Given the description of an element on the screen output the (x, y) to click on. 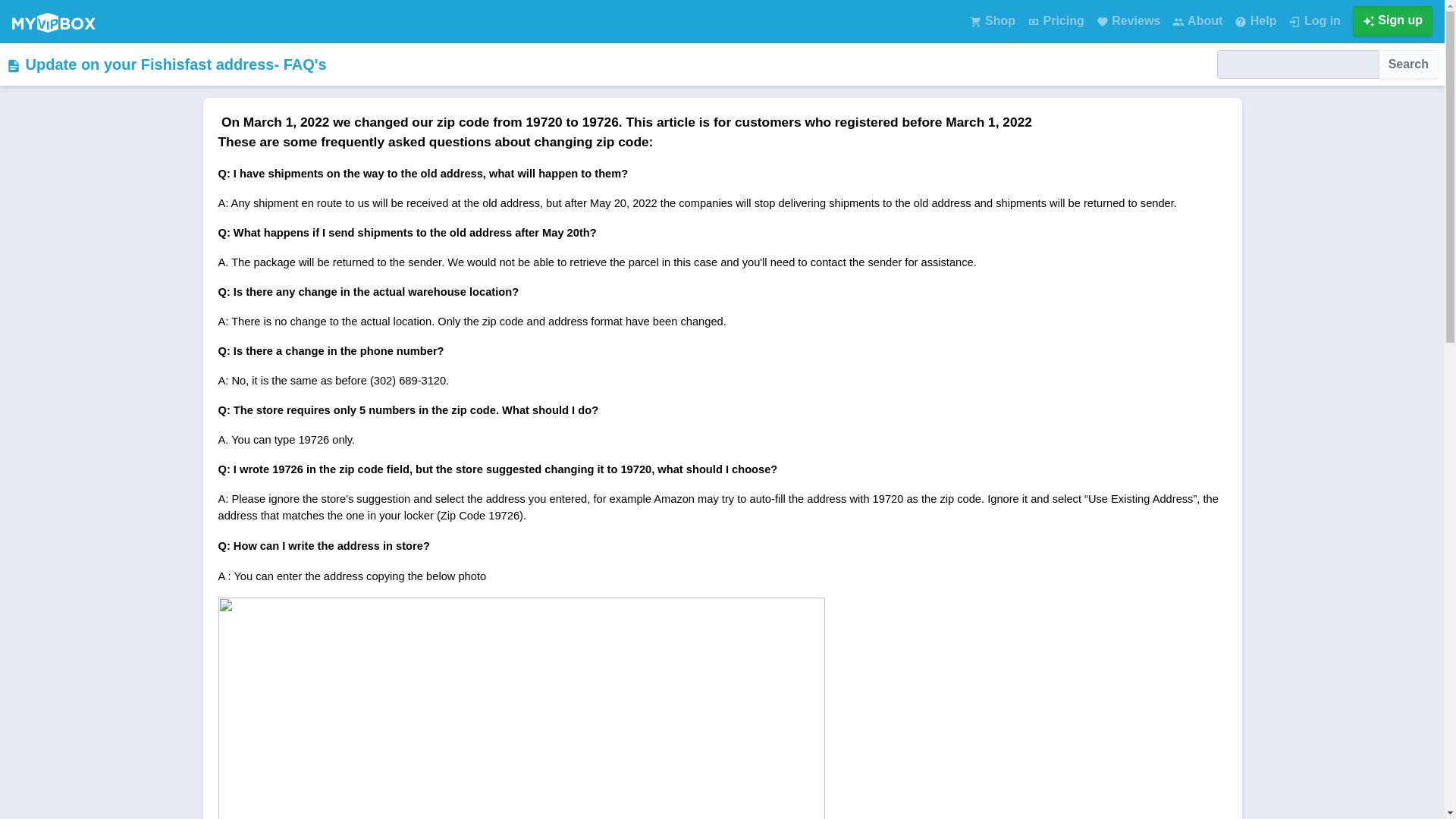
Shop (992, 20)
Sign up (1392, 20)
Update on your Fishisfast address- FAQ's (165, 64)
Search (1408, 63)
Help (1255, 20)
About (1197, 20)
Pricing (1056, 20)
Log in (1313, 20)
Reviews (1128, 20)
Search (1408, 63)
